Given the description of an element on the screen output the (x, y) to click on. 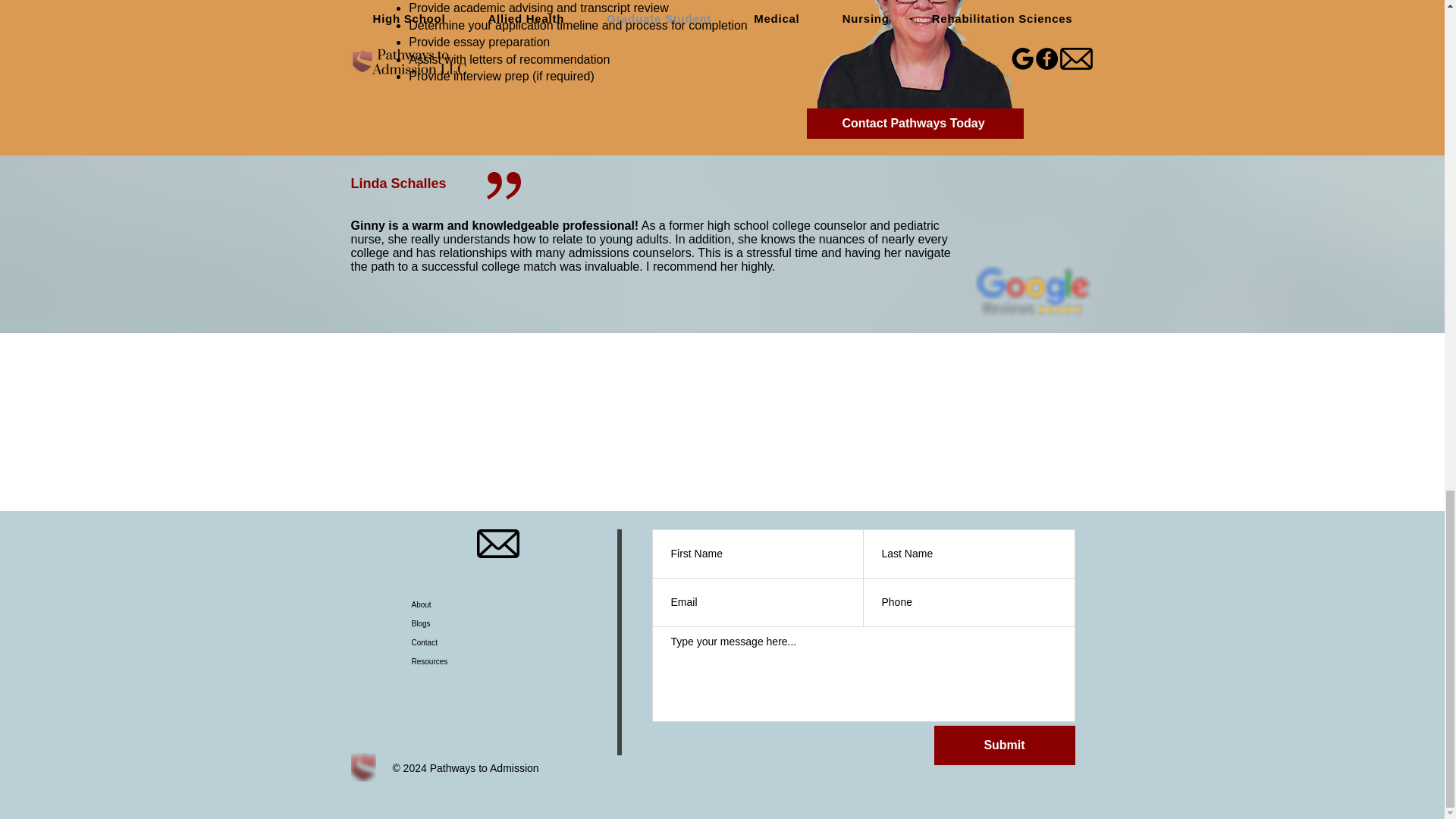
Linda Schalles (397, 183)
Contact Pathways Today (914, 123)
